Given the description of an element on the screen output the (x, y) to click on. 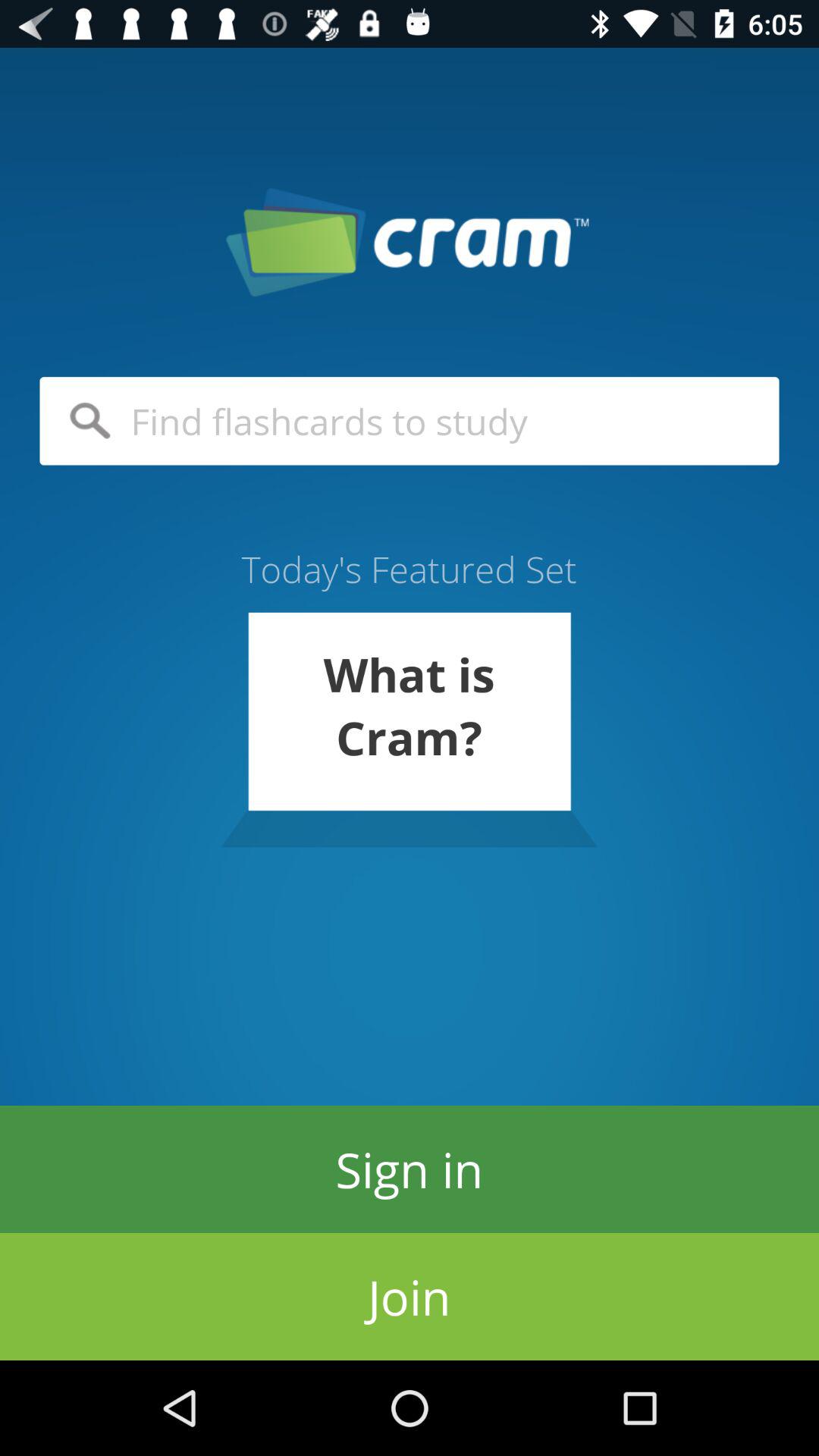
swipe to the sign in item (409, 1169)
